Given the description of an element on the screen output the (x, y) to click on. 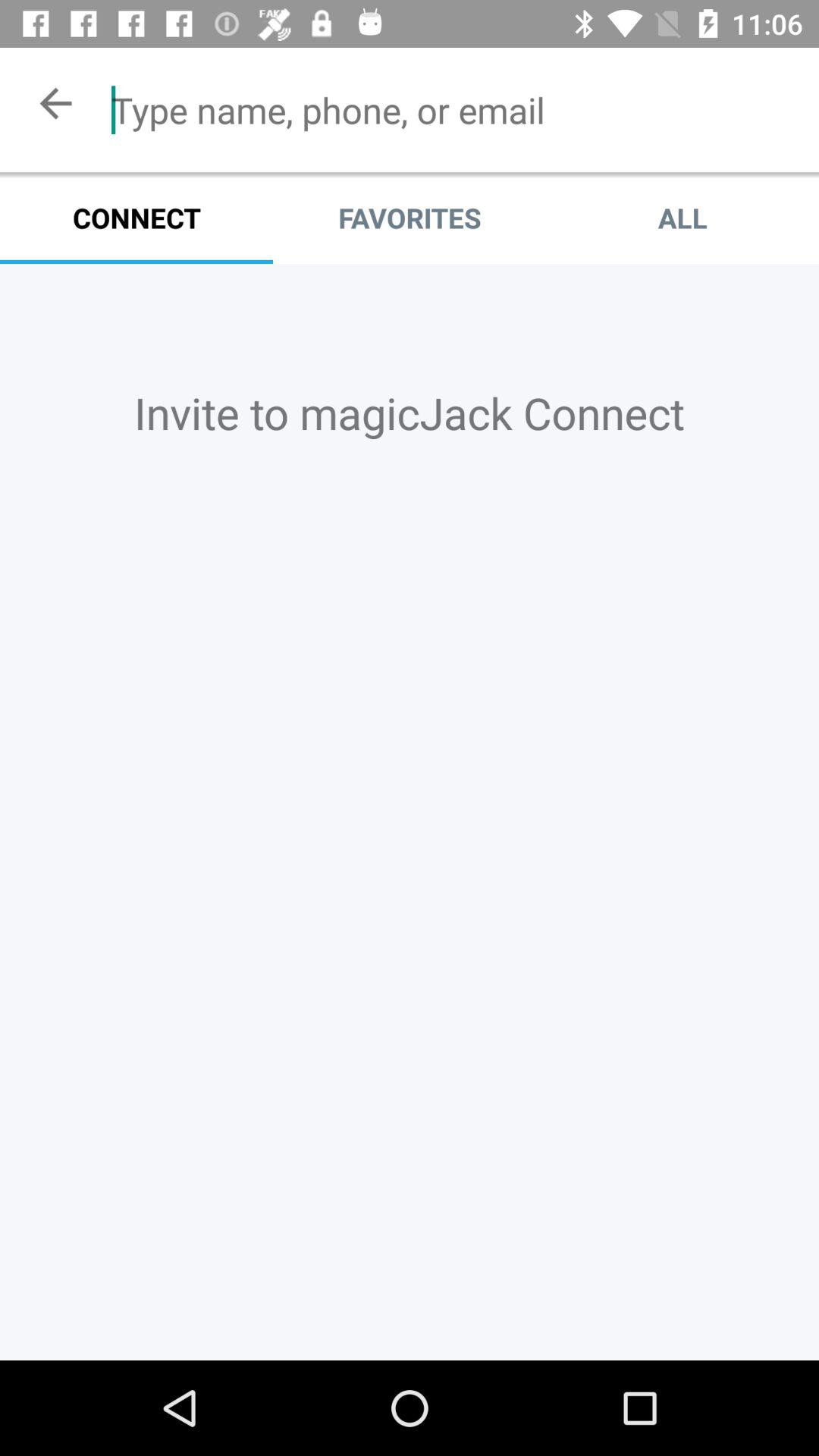
launch the invite to magicjack icon (409, 412)
